Given the description of an element on the screen output the (x, y) to click on. 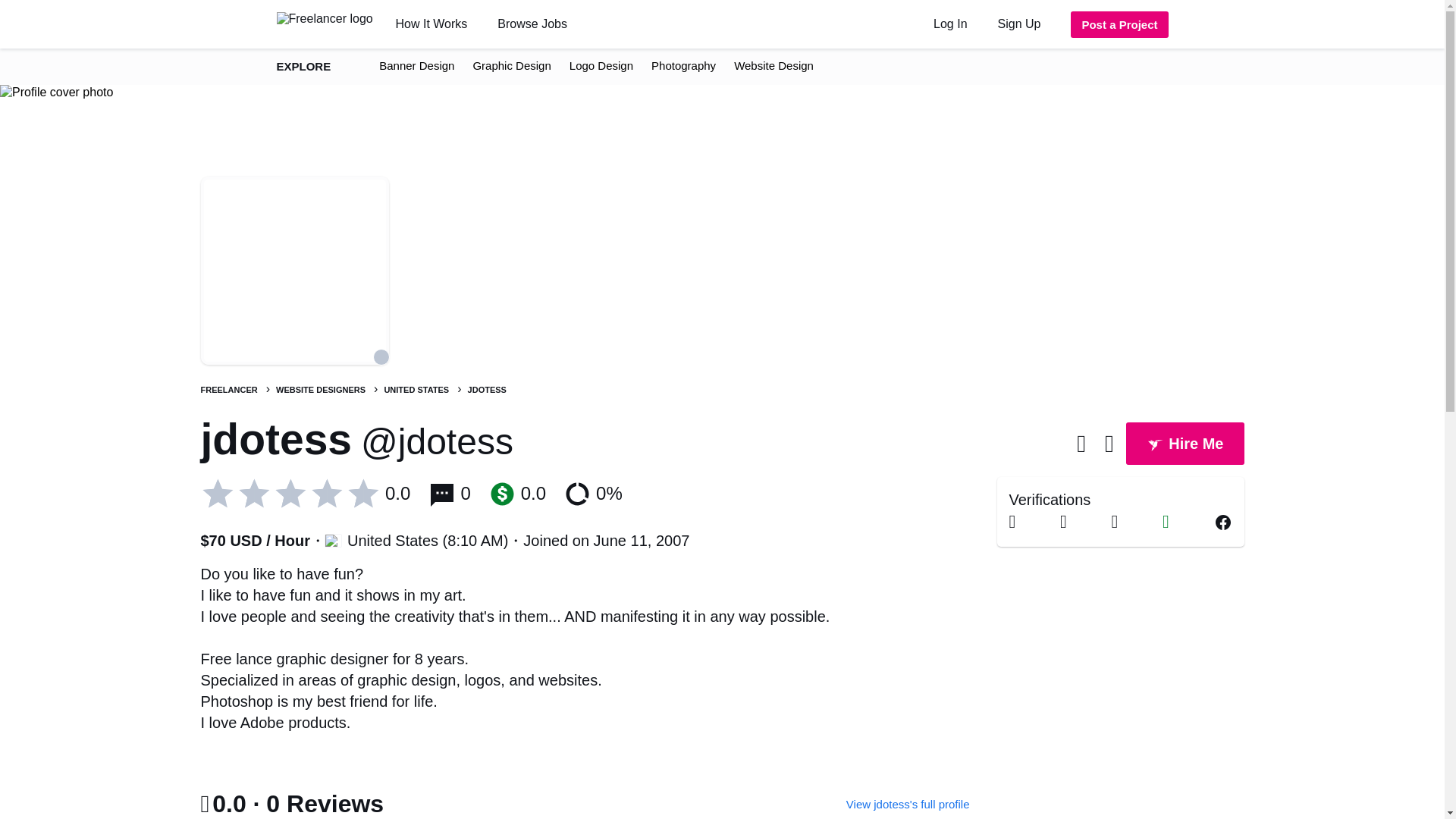
Post a Project (1119, 24)
Website Design (773, 65)
Logo Design (601, 65)
Log In (949, 23)
Sign Up (1019, 23)
How It Works (431, 23)
Share (1109, 444)
JDOTESS (486, 389)
Hire Me (1185, 444)
More Options (1081, 443)
Graphic Design (510, 65)
UNITED STATES (417, 388)
Browse Jobs (532, 23)
Photography (683, 65)
View jdotess's full profile (907, 803)
